Given the description of an element on the screen output the (x, y) to click on. 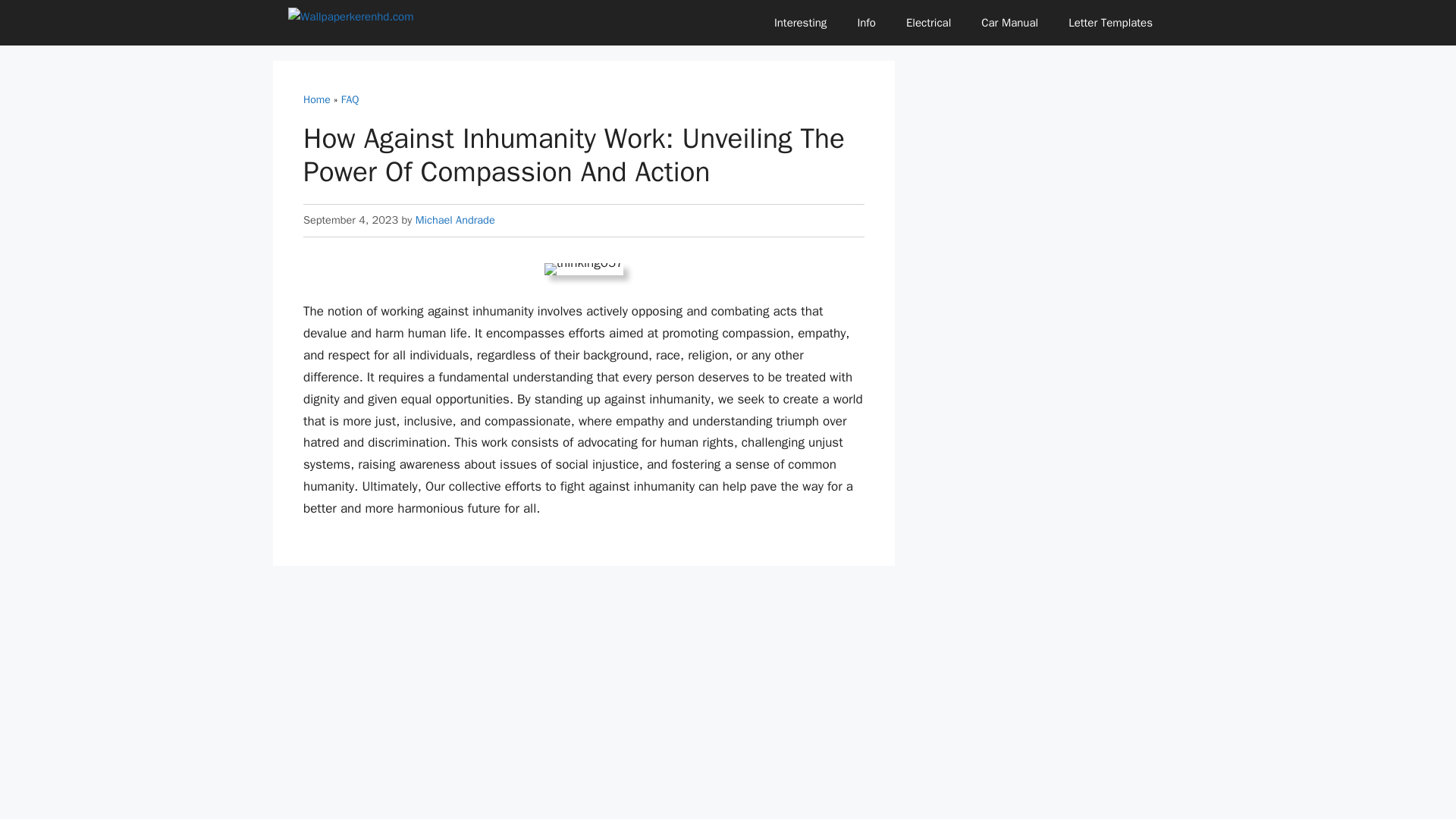
Info (866, 22)
FAQ (349, 99)
thinking057 (584, 268)
Michael Andrade (454, 219)
Letter Templates (1109, 22)
Interesting (800, 22)
Electrical (928, 22)
Home (316, 99)
Wallpaperkerenhd.com (368, 22)
Car Manual (1009, 22)
View all posts by Michael Andrade (454, 219)
